Given the description of an element on the screen output the (x, y) to click on. 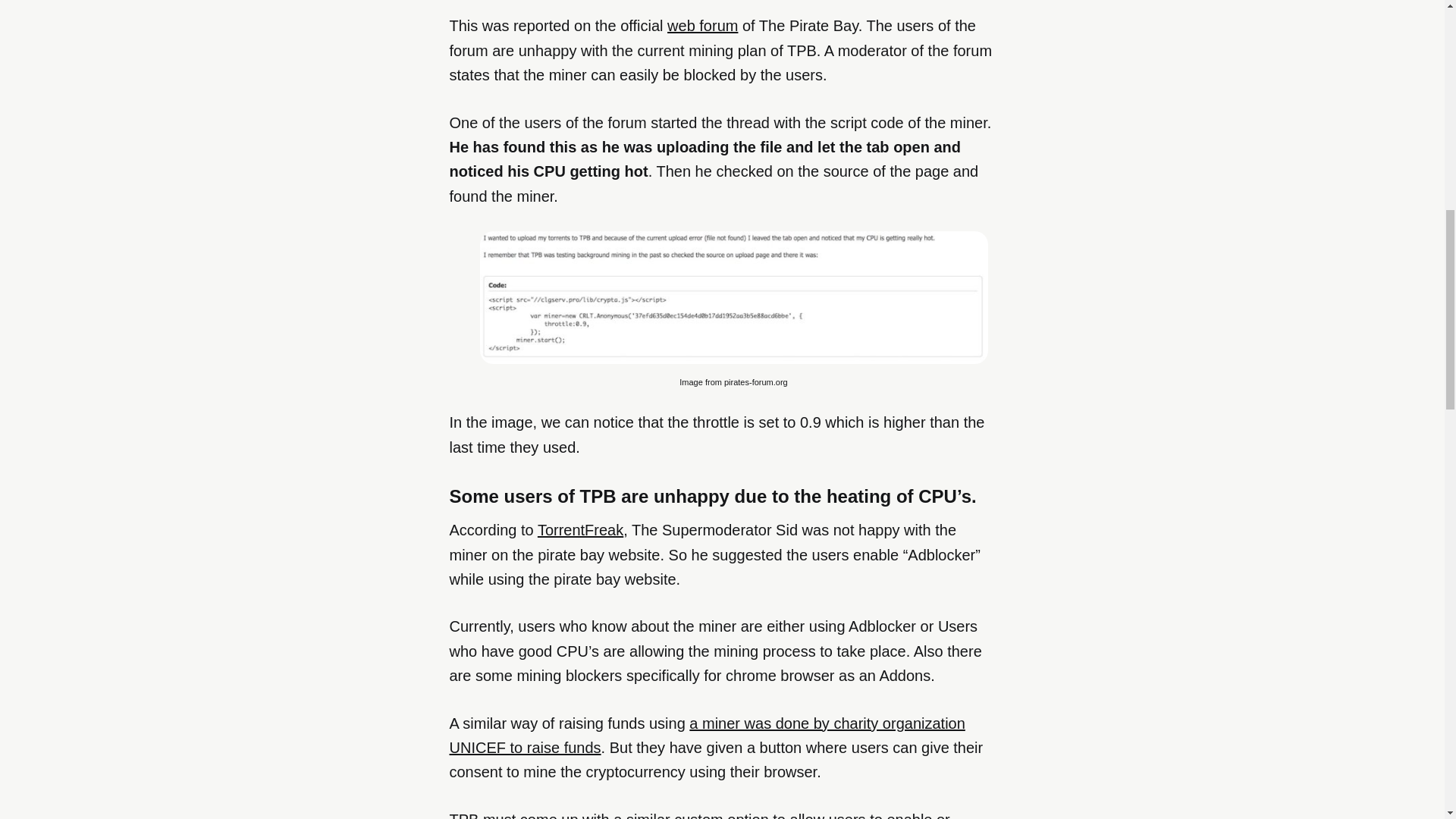
web forum (702, 25)
TorrentFreak (580, 529)
